Given the description of an element on the screen output the (x, y) to click on. 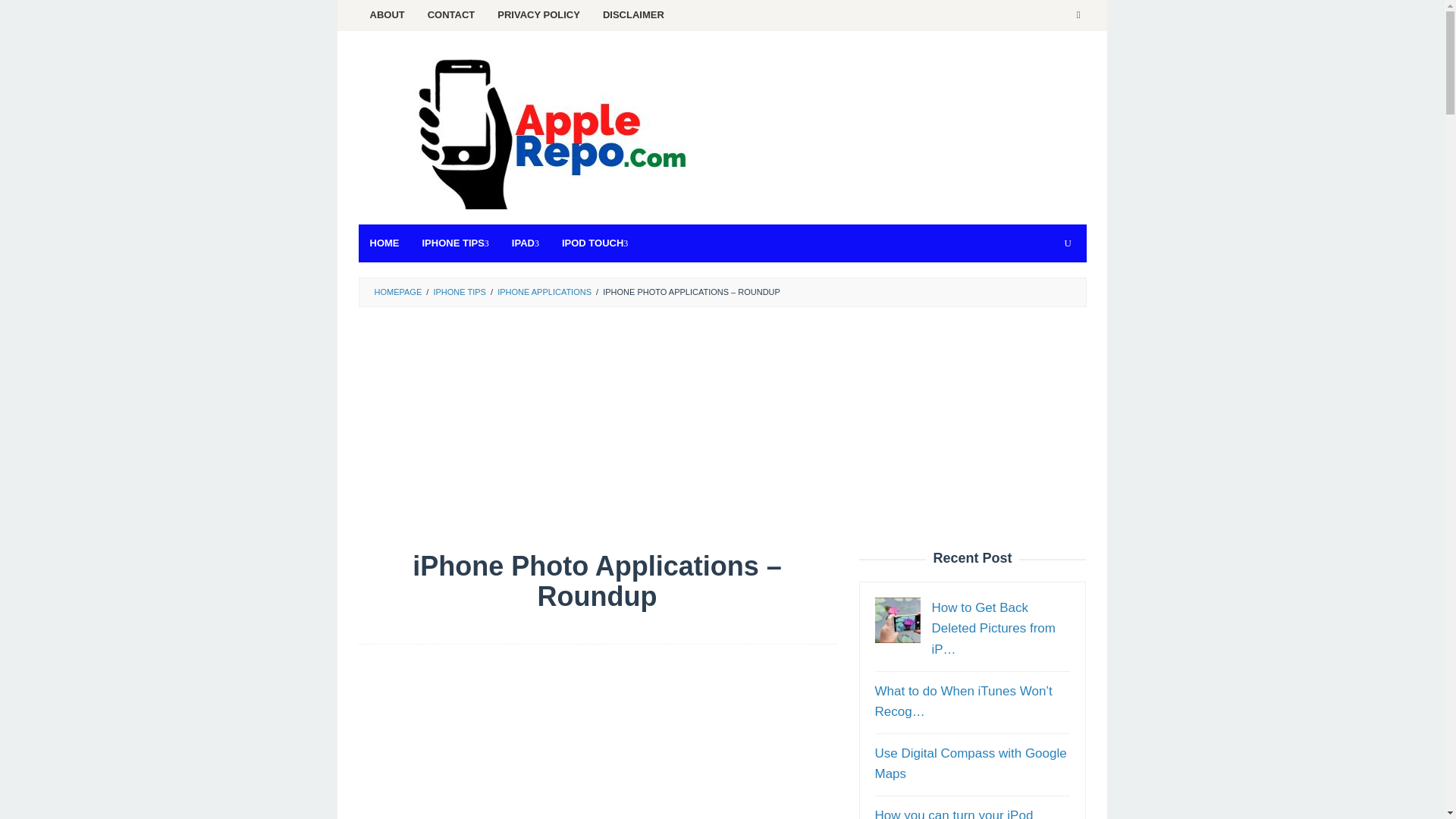
DISCLAIMER (633, 15)
ABOUT (386, 15)
CONTACT (451, 15)
HOME (384, 243)
AppleRepo.com (547, 132)
IPOD TOUCH (594, 243)
IPHONE APPLICATIONS (544, 291)
IPHONE TIPS (458, 291)
How to recover deleted photos from iphone (897, 619)
Permalink to: Use Digital Compass with Google Maps (971, 763)
PRIVACY POLICY (538, 15)
Permalink to: How to Get Back Deleted Pictures from iPhone (992, 628)
IPAD (525, 243)
